Given the description of an element on the screen output the (x, y) to click on. 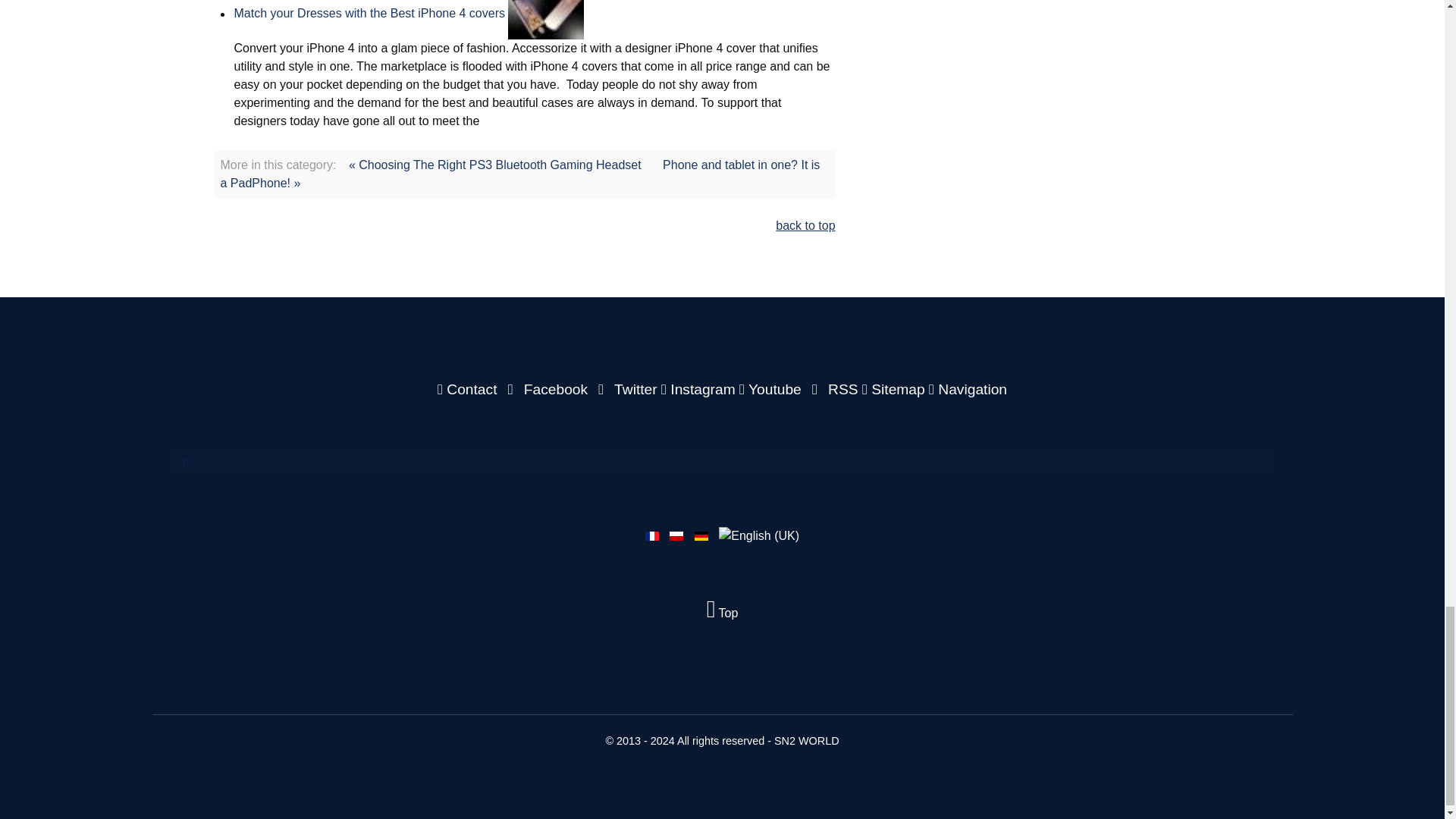
Twitter (626, 389)
back to top (805, 225)
Match your Dresses with the Best iPhone 4 covers (368, 13)
Contact (469, 389)
RSS (833, 389)
Youtube (772, 389)
Navigation (967, 389)
Facebook (546, 389)
Instagram (700, 389)
Polski (675, 535)
Sitemap (894, 389)
